Given the description of an element on the screen output the (x, y) to click on. 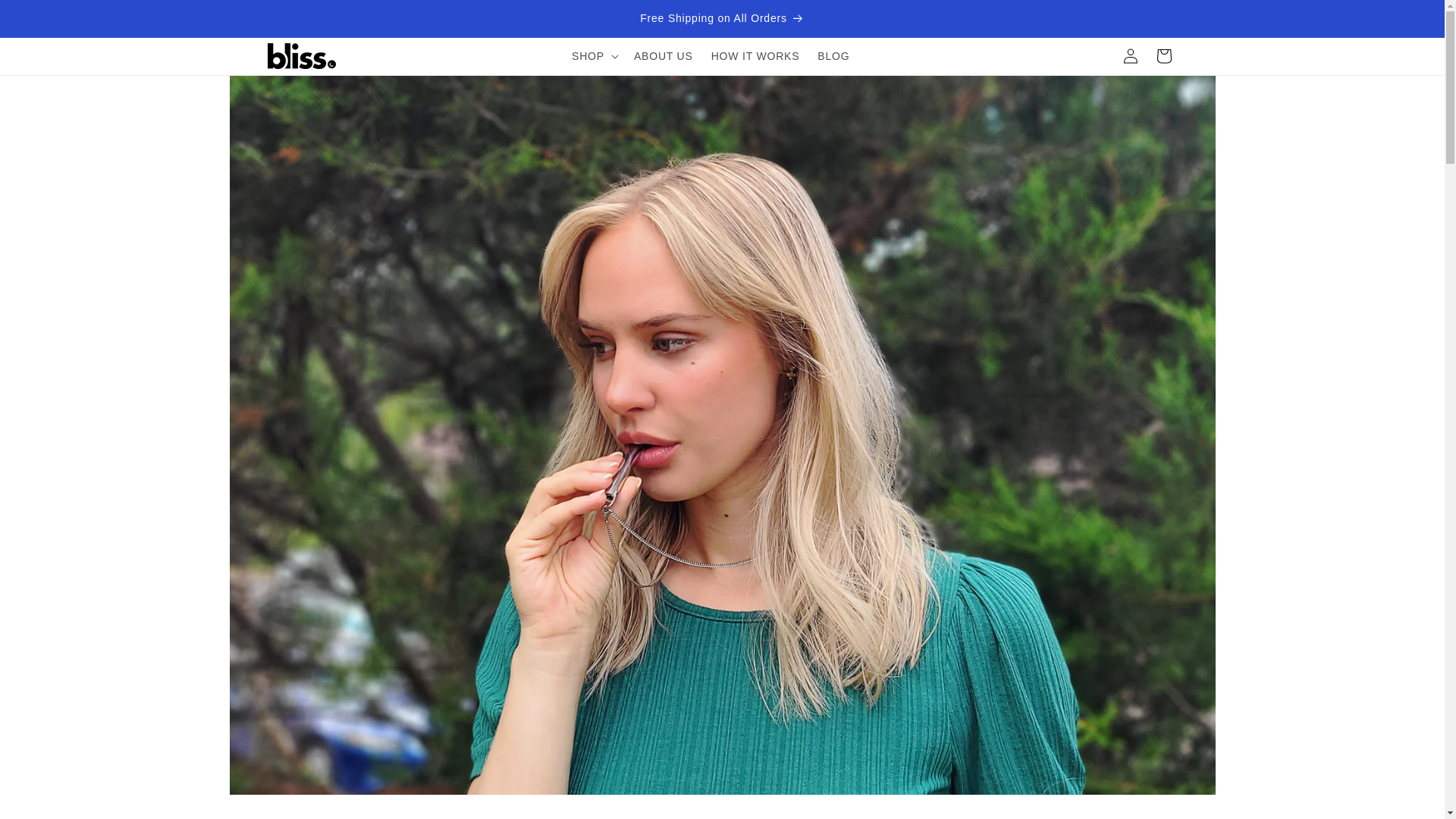
Free Shipping on All Orders (721, 18)
BLOG (833, 56)
Log in (1130, 55)
Skip to content (45, 17)
HOW IT WORKS (755, 56)
ABOUT US (662, 56)
Cart (1163, 55)
